Given the description of an element on the screen output the (x, y) to click on. 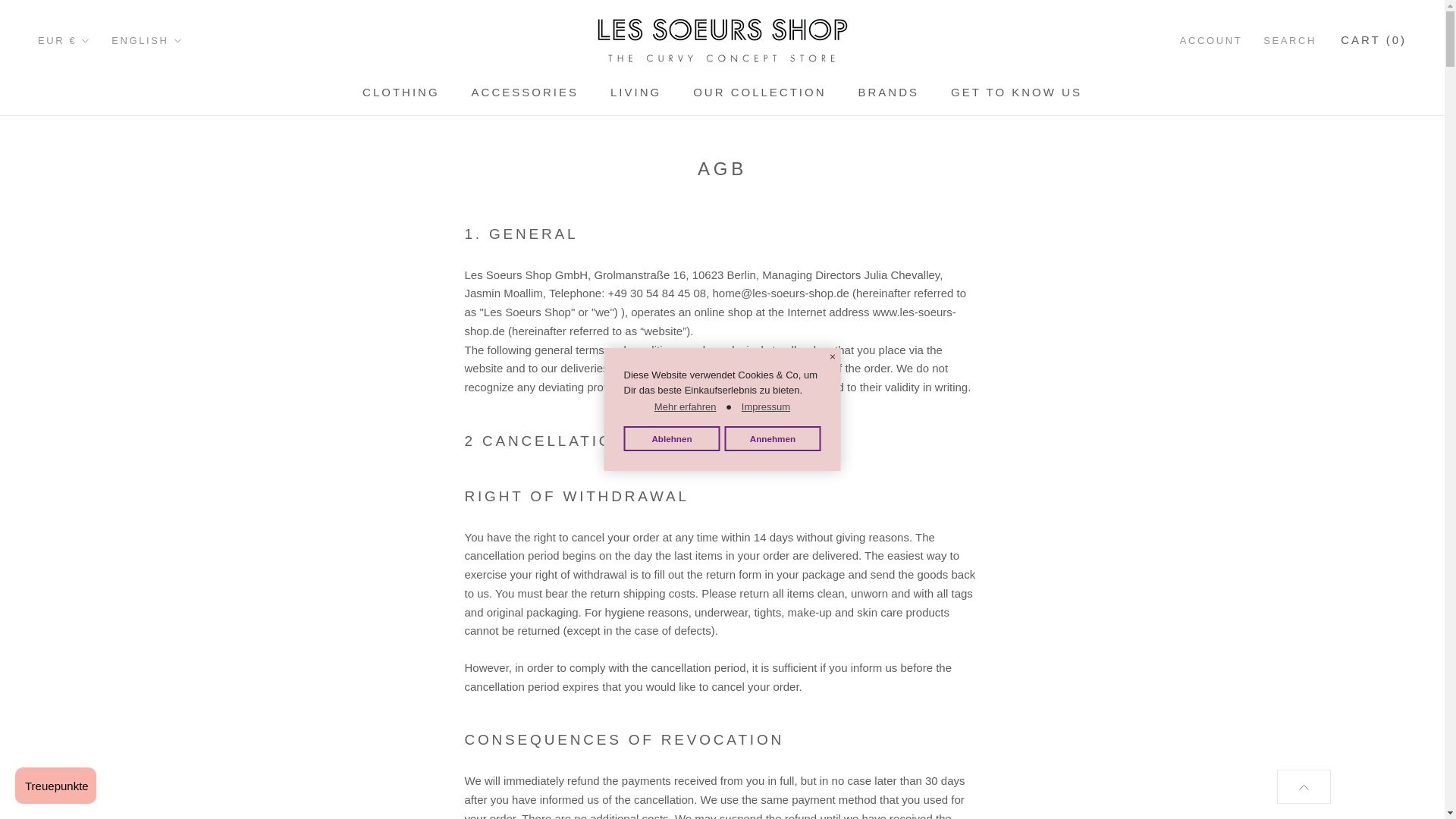
Ablehnen (671, 438)
Annehmen (772, 438)
Impressum (765, 406)
LoyaltyLion beacon (55, 785)
Mehr erfahren (684, 406)
